Given the description of an element on the screen output the (x, y) to click on. 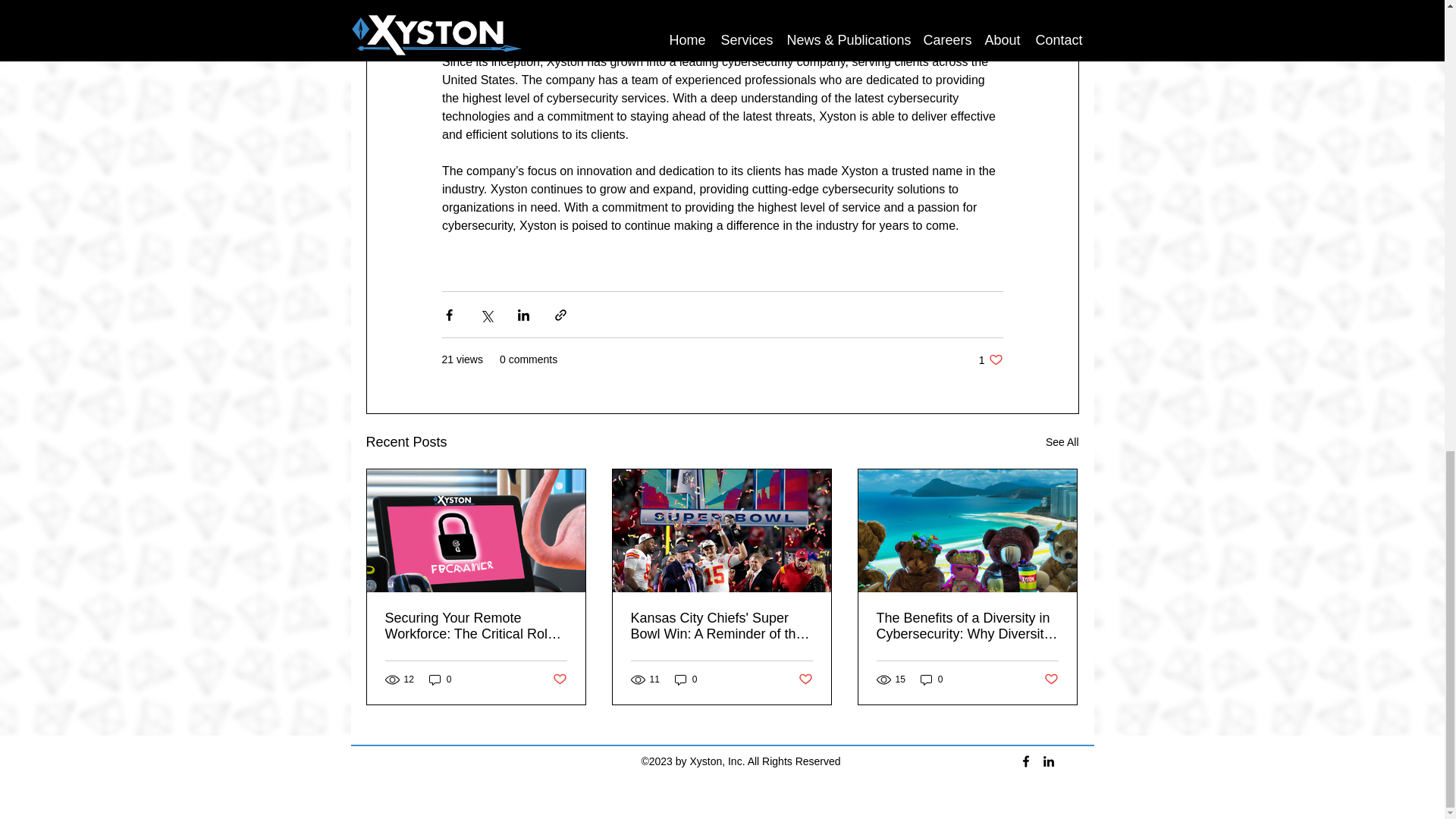
0 (440, 679)
See All (1061, 442)
Post not marked as liked (1050, 678)
Post not marked as liked (558, 678)
0 (685, 679)
Post not marked as liked (804, 678)
0 (931, 679)
